Given the description of an element on the screen output the (x, y) to click on. 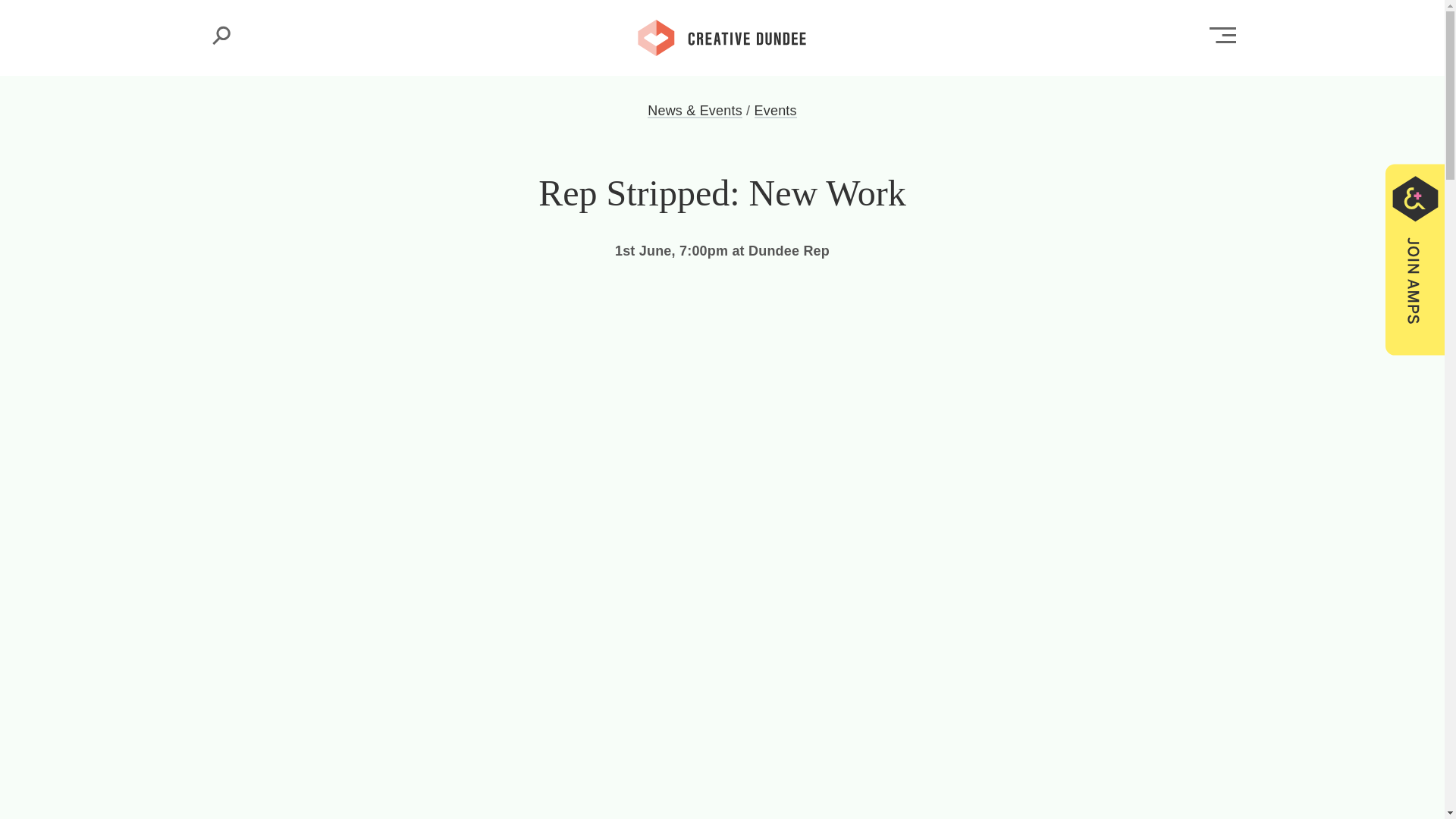
Open Main Menu (1222, 35)
Creative Dundee (721, 36)
Search (221, 34)
Events (775, 110)
